Given the description of an element on the screen output the (x, y) to click on. 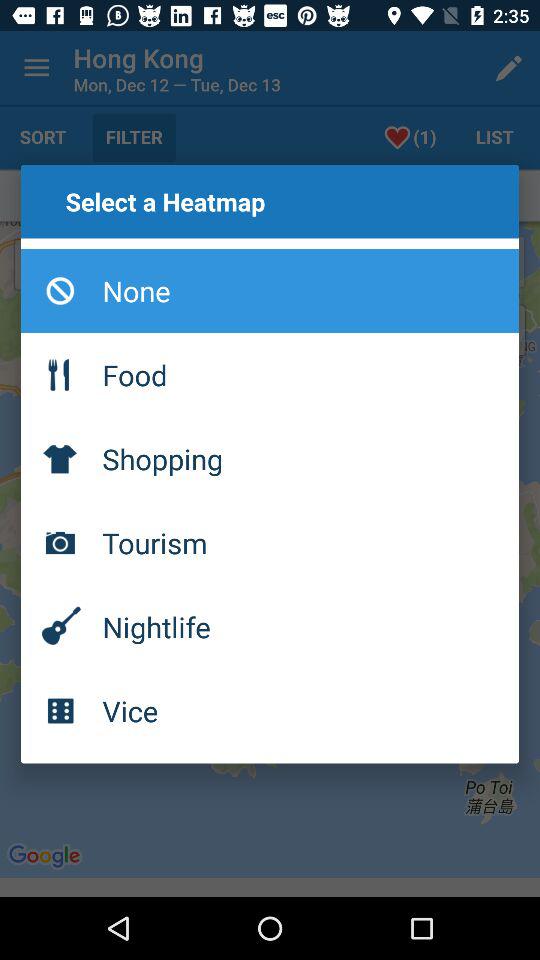
flip to food (270, 374)
